Given the description of an element on the screen output the (x, y) to click on. 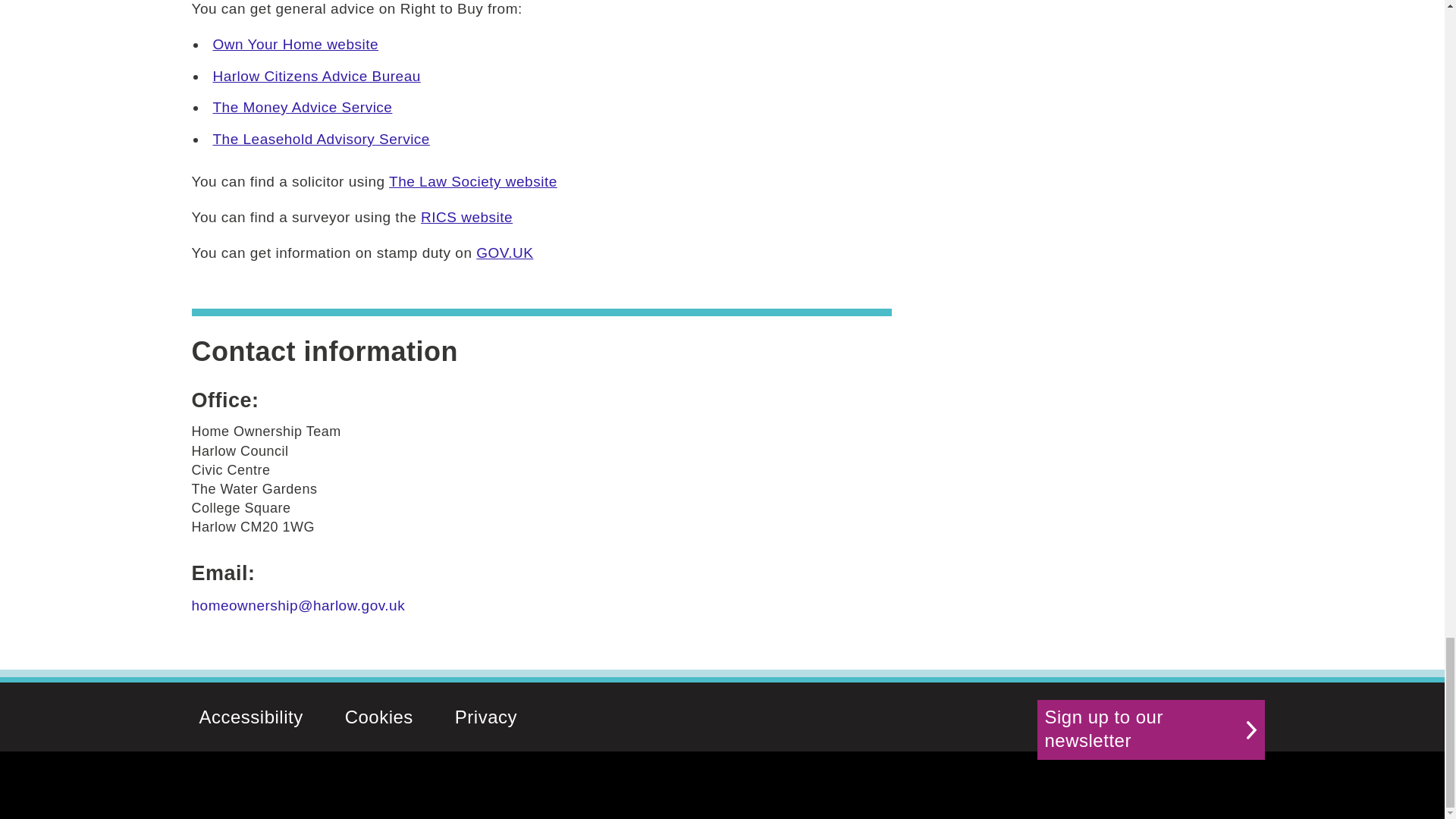
GOV.UK (504, 252)
The Leasehold Advisory Service (320, 139)
RICS website (466, 217)
The Money Advice Service (301, 107)
Cookies (379, 716)
The Law Society website (472, 181)
Harlow Citizens Advice Bureau (316, 75)
Accessibility (250, 716)
Privacy (485, 716)
Own Your Home website (295, 44)
Sign up to our newsletter (1150, 730)
